Given the description of an element on the screen output the (x, y) to click on. 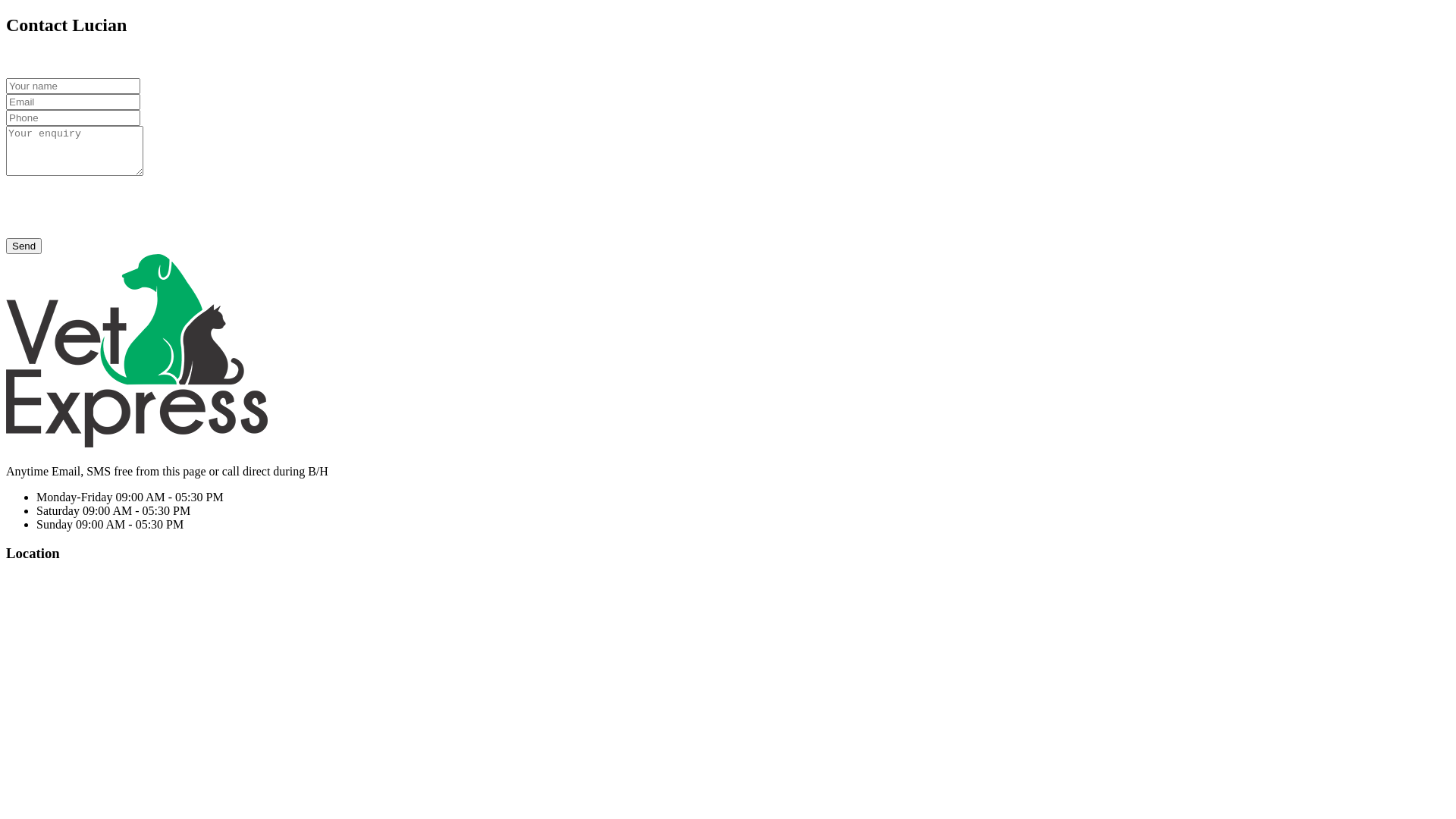
Send Element type: text (23, 246)
reCAPTCHA Element type: hover (121, 208)
